Given the description of an element on the screen output the (x, y) to click on. 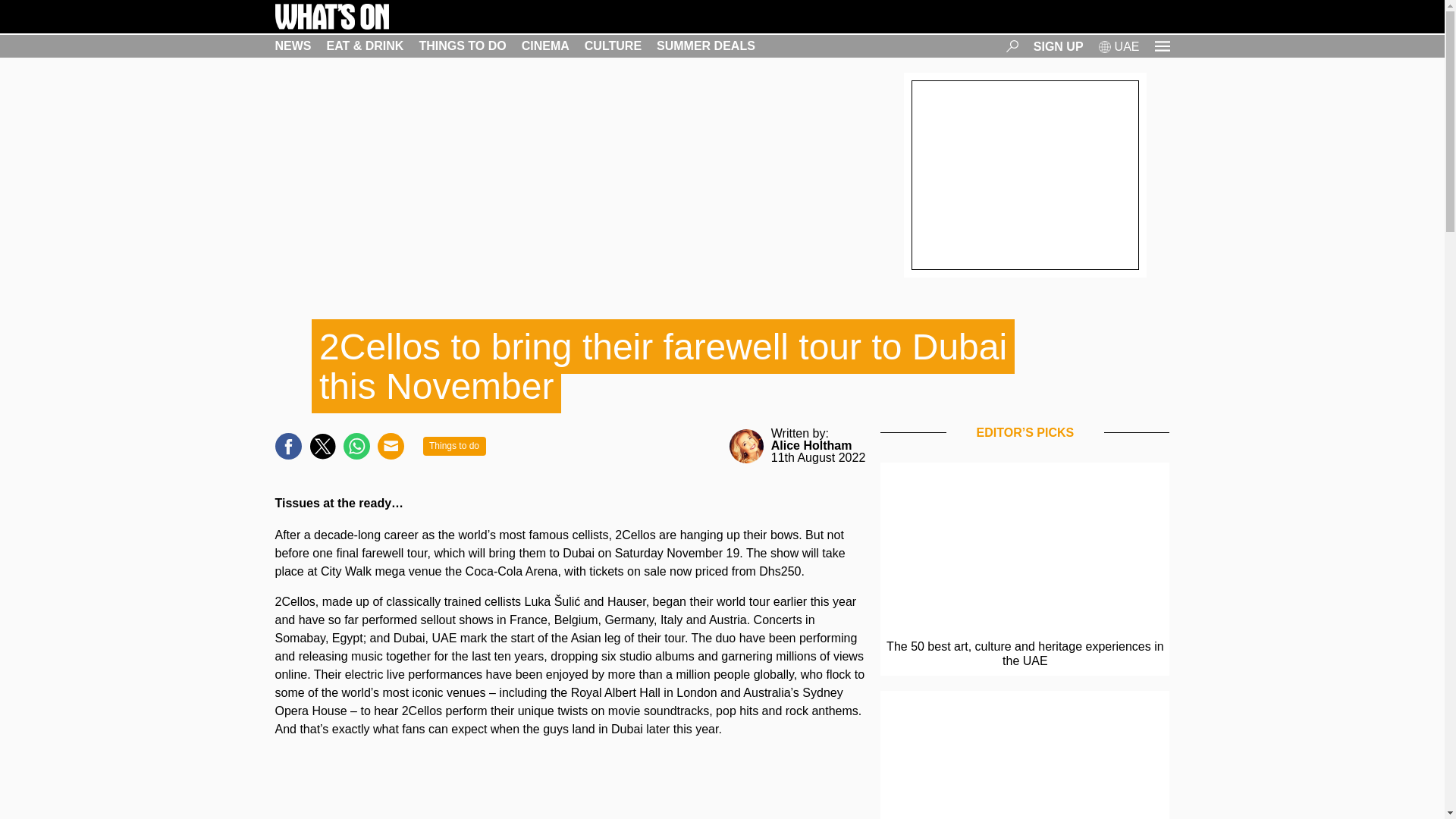
NEWS (293, 45)
CULTURE (613, 45)
YouTube video player (569, 788)
SUMMER DEALS (705, 45)
SIGN UP (1058, 45)
THINGS TO DO (462, 45)
CINEMA (545, 45)
